Given the description of an element on the screen output the (x, y) to click on. 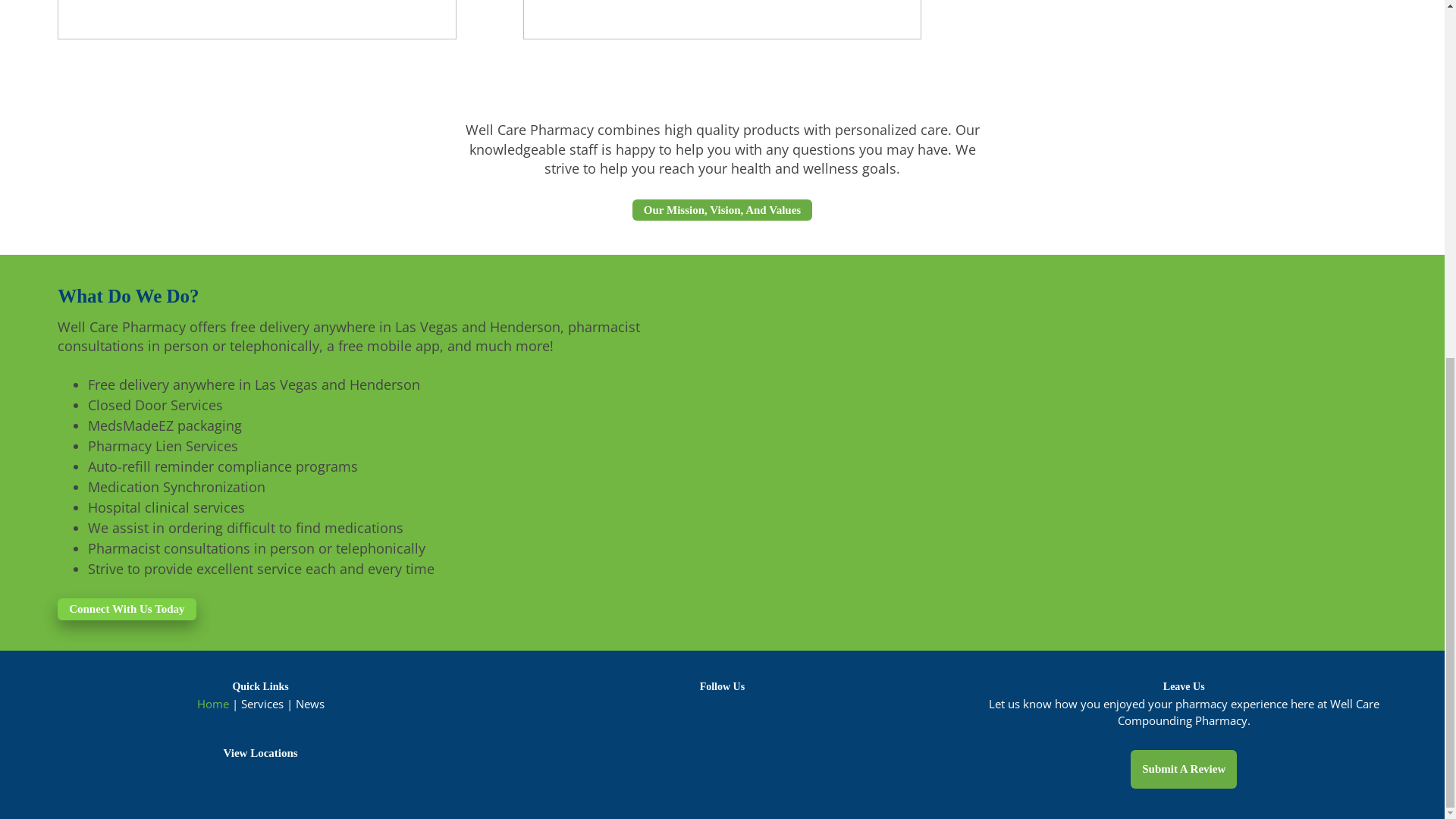
Submit A Review (1183, 769)
Our Mission, Vision, And Values (721, 210)
Connect With Us Today (126, 608)
News (309, 703)
medsmadeez-video-img2 (721, 19)
home-video-cover (256, 19)
View Locations (259, 752)
Home (212, 703)
Services (262, 703)
